Given the description of an element on the screen output the (x, y) to click on. 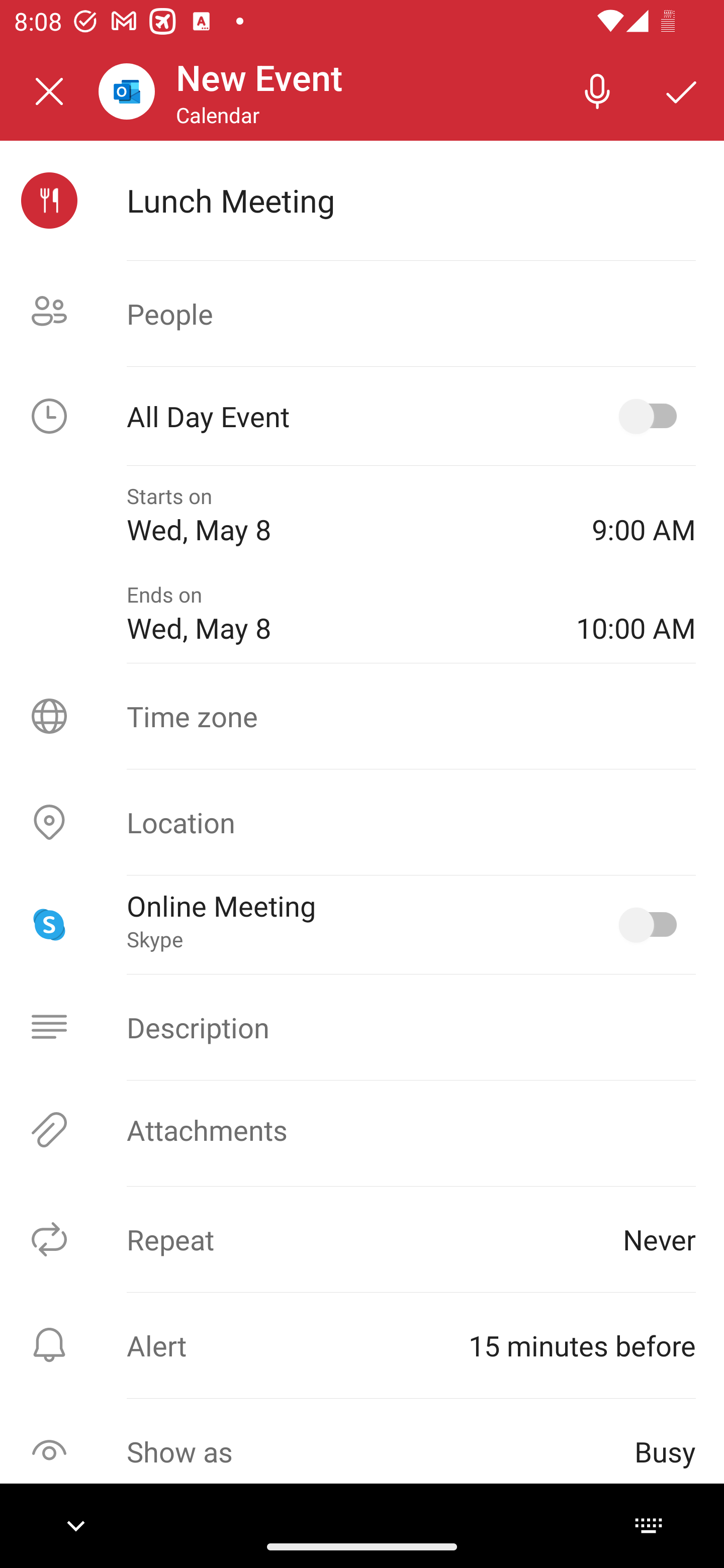
Close (49, 91)
Save (681, 90)
Lunch Meeting (410, 200)
lunch selected, event icon picker (48, 200)
People (362, 313)
All Day Event (362, 415)
Starts on Wed, May 8 (344, 514)
9:00 AM (643, 514)
Ends on Wed, May 8 (336, 613)
10:00 AM (635, 613)
Time zone (362, 715)
Location (362, 821)
Online Meeting, Skype selected (651, 923)
Description (362, 1026)
Attachments (362, 1129)
Repeat Never (362, 1239)
Alert ⁨15 minutes before (362, 1345)
Show as Busy (362, 1450)
